Given the description of an element on the screen output the (x, y) to click on. 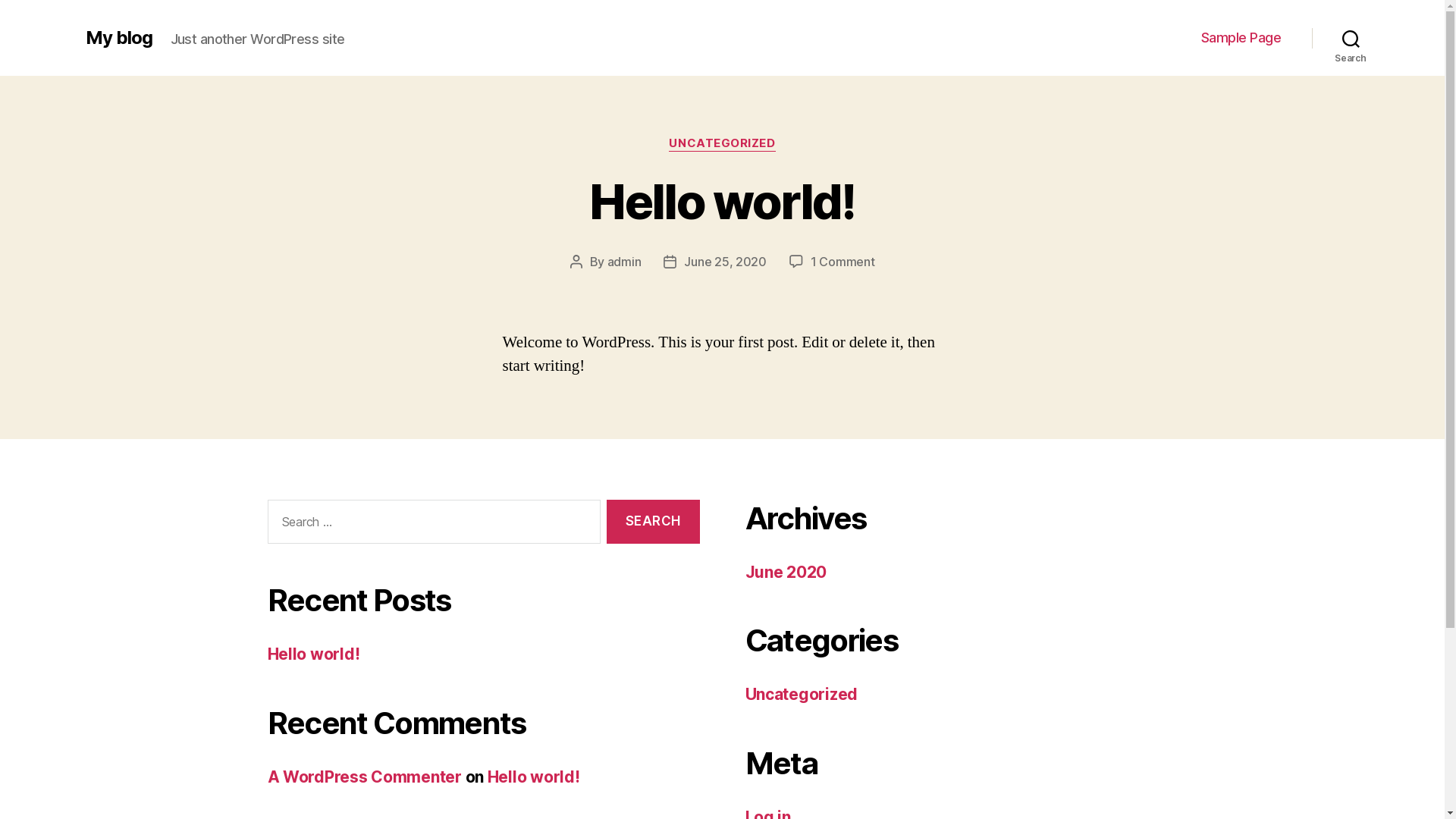
June 25, 2020 Element type: text (725, 261)
June 2020 Element type: text (785, 571)
Hello world! Element type: text (312, 653)
1 Comment
on Hello world! Element type: text (842, 261)
My blog Element type: text (117, 37)
UNCATEGORIZED Element type: text (721, 143)
admin Element type: text (624, 261)
Hello world! Element type: text (721, 201)
Uncategorized Element type: text (800, 693)
Search Element type: text (1350, 37)
Sample Page Element type: text (1241, 37)
Search Element type: text (652, 521)
A WordPress Commenter Element type: text (363, 776)
Hello world! Element type: text (533, 776)
